Given the description of an element on the screen output the (x, y) to click on. 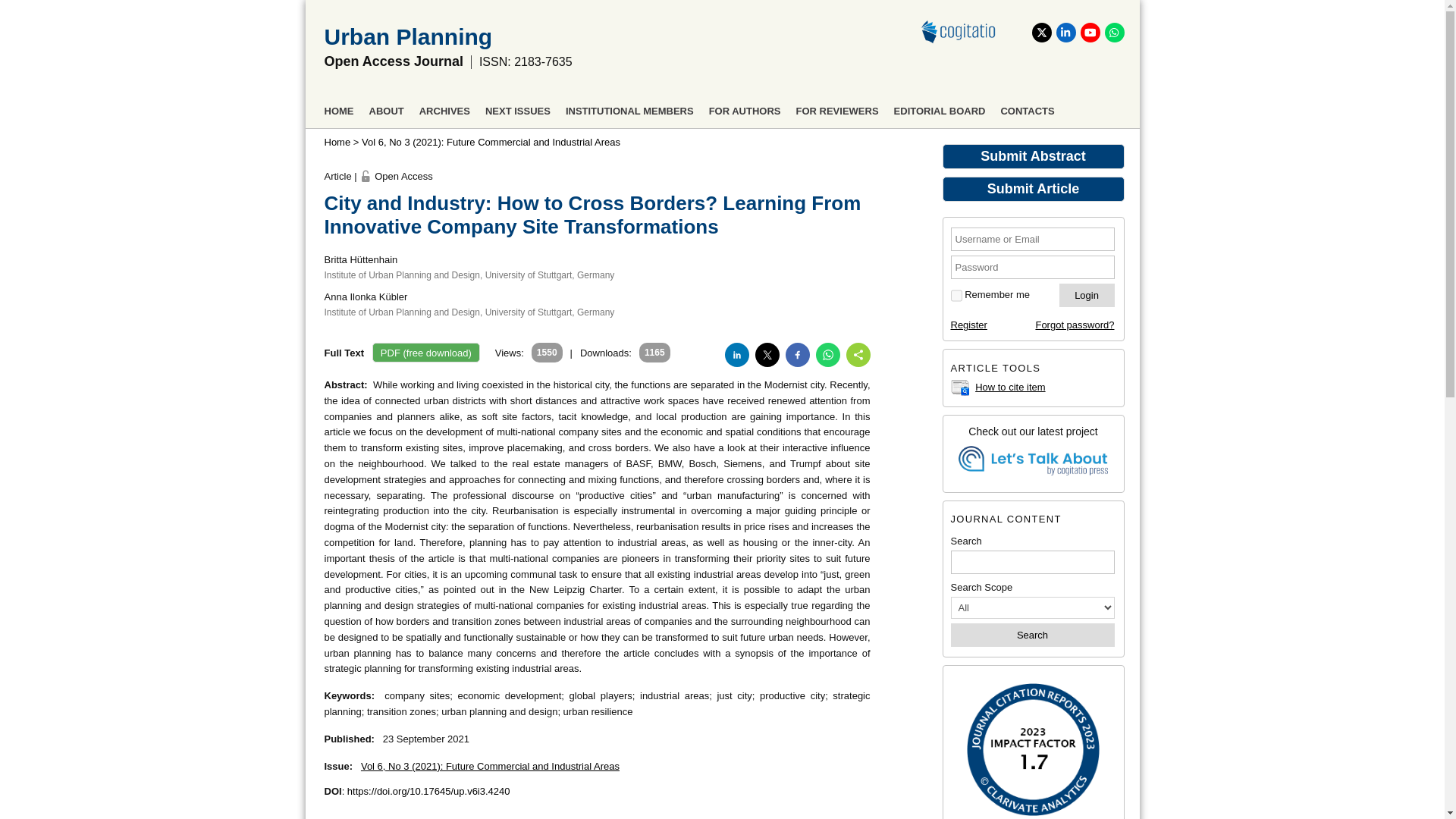
NEXT ISSUES (517, 109)
WhatsApp (1113, 32)
Login (1087, 295)
HOME (338, 109)
FOR REVIEWERS (837, 109)
Search (1032, 635)
How to cite item (1010, 387)
INSTITUTIONAL MEMBERS (630, 109)
ABOUT (385, 109)
CONTACTS (1027, 109)
EDITORIAL BOARD (939, 109)
1165 PDF downloads (605, 352)
Twitter (1040, 32)
FOR AUTHORS (744, 109)
Linkedin (1065, 32)
